Given the description of an element on the screen output the (x, y) to click on. 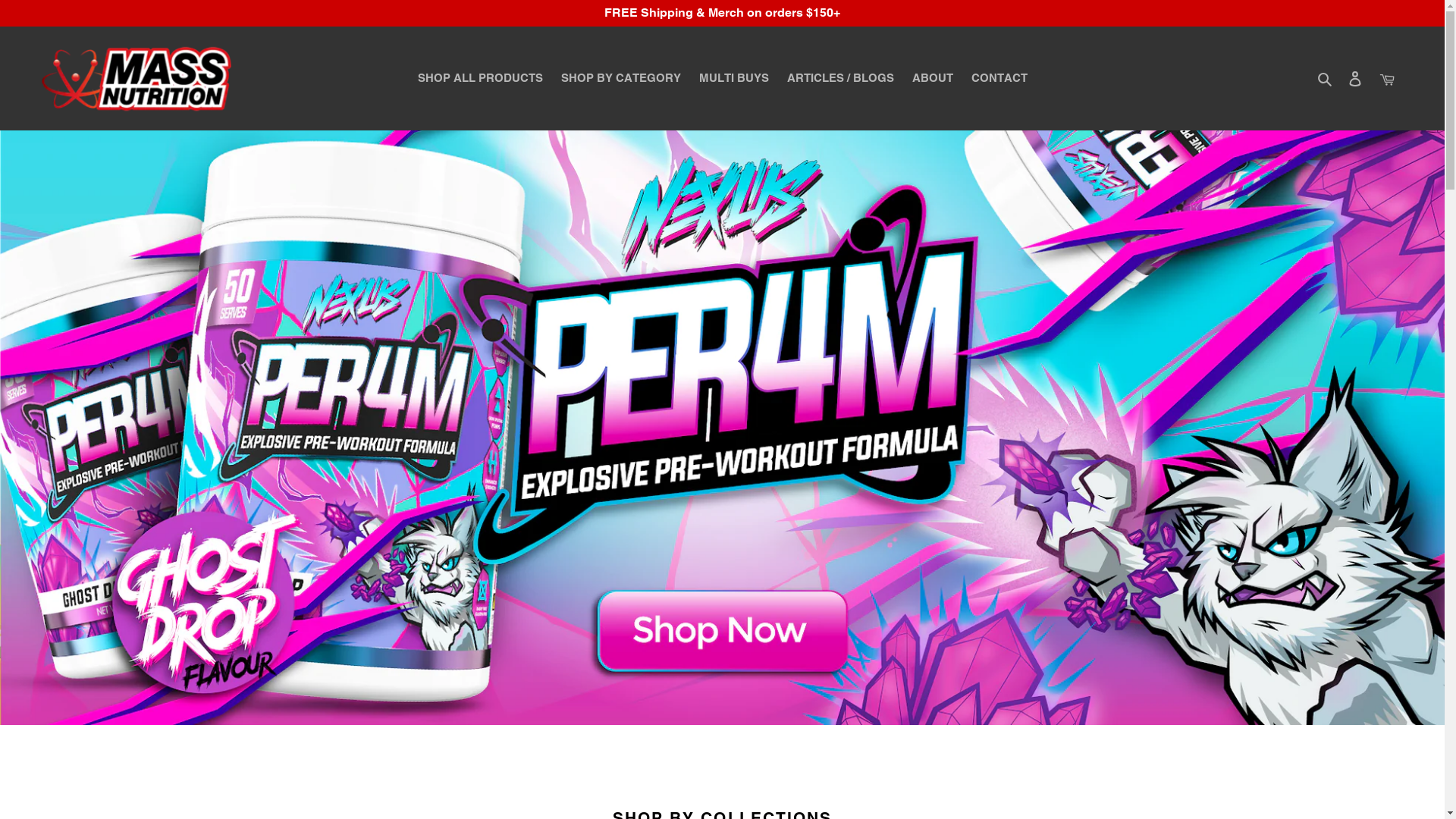
ABOUT Element type: text (931, 78)
MULTI BUYS Element type: text (733, 78)
SHOP ALL PRODUCTS Element type: text (479, 78)
Log in Element type: text (1355, 78)
Cart Element type: text (1386, 78)
ARTICLES / BLOGS Element type: text (840, 78)
Search Element type: text (1325, 78)
SHOP BY CATEGORY Element type: text (620, 78)
CONTACT Element type: text (998, 78)
